Given the description of an element on the screen output the (x, y) to click on. 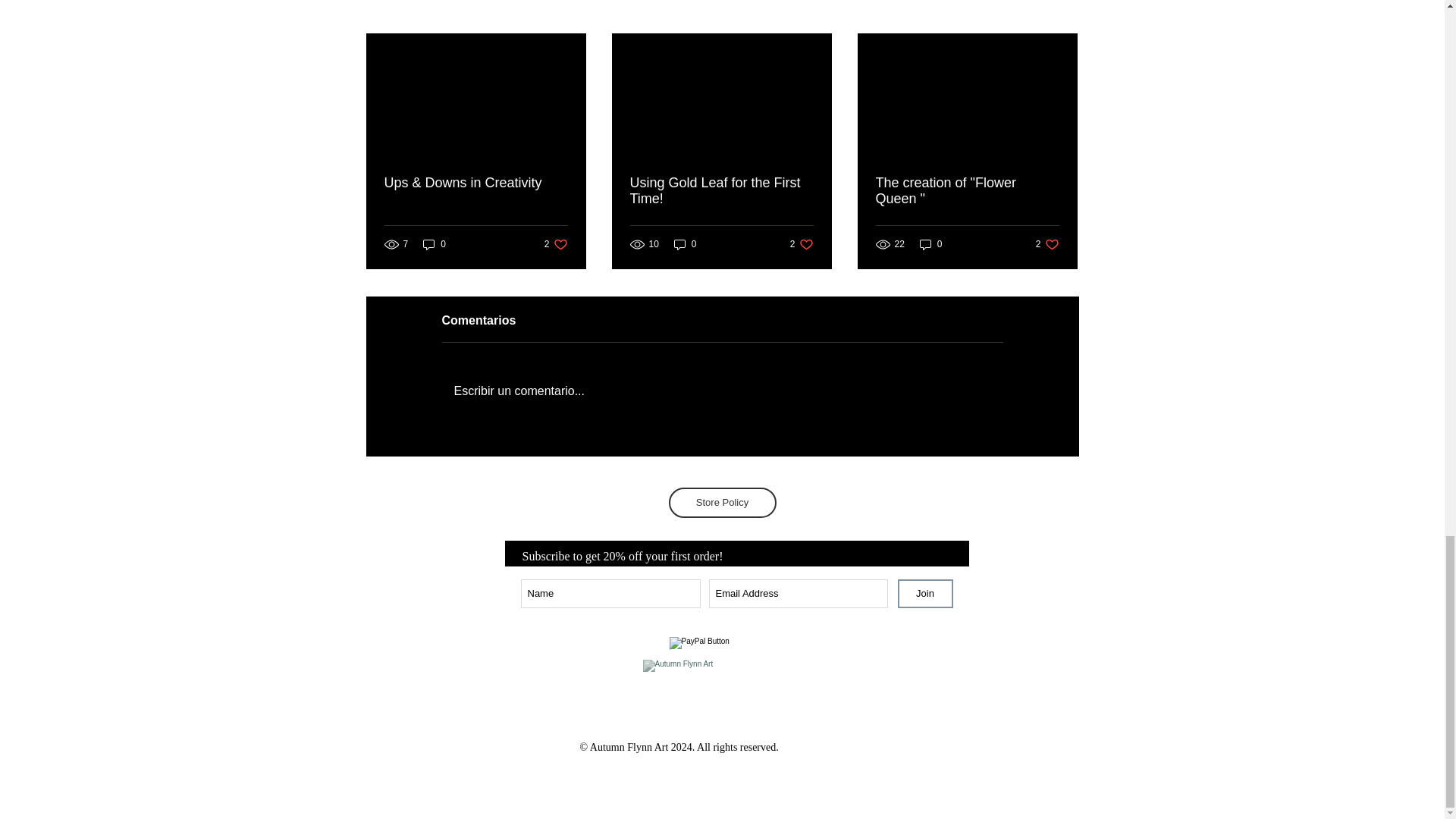
logo desin autumn flynn art.png (555, 244)
The creation of "Flower Queen " (705, 693)
See All (966, 191)
Using Gold Leaf for the First Time! (1061, 9)
0 (720, 191)
0 (685, 244)
0 (930, 244)
